Given the description of an element on the screen output the (x, y) to click on. 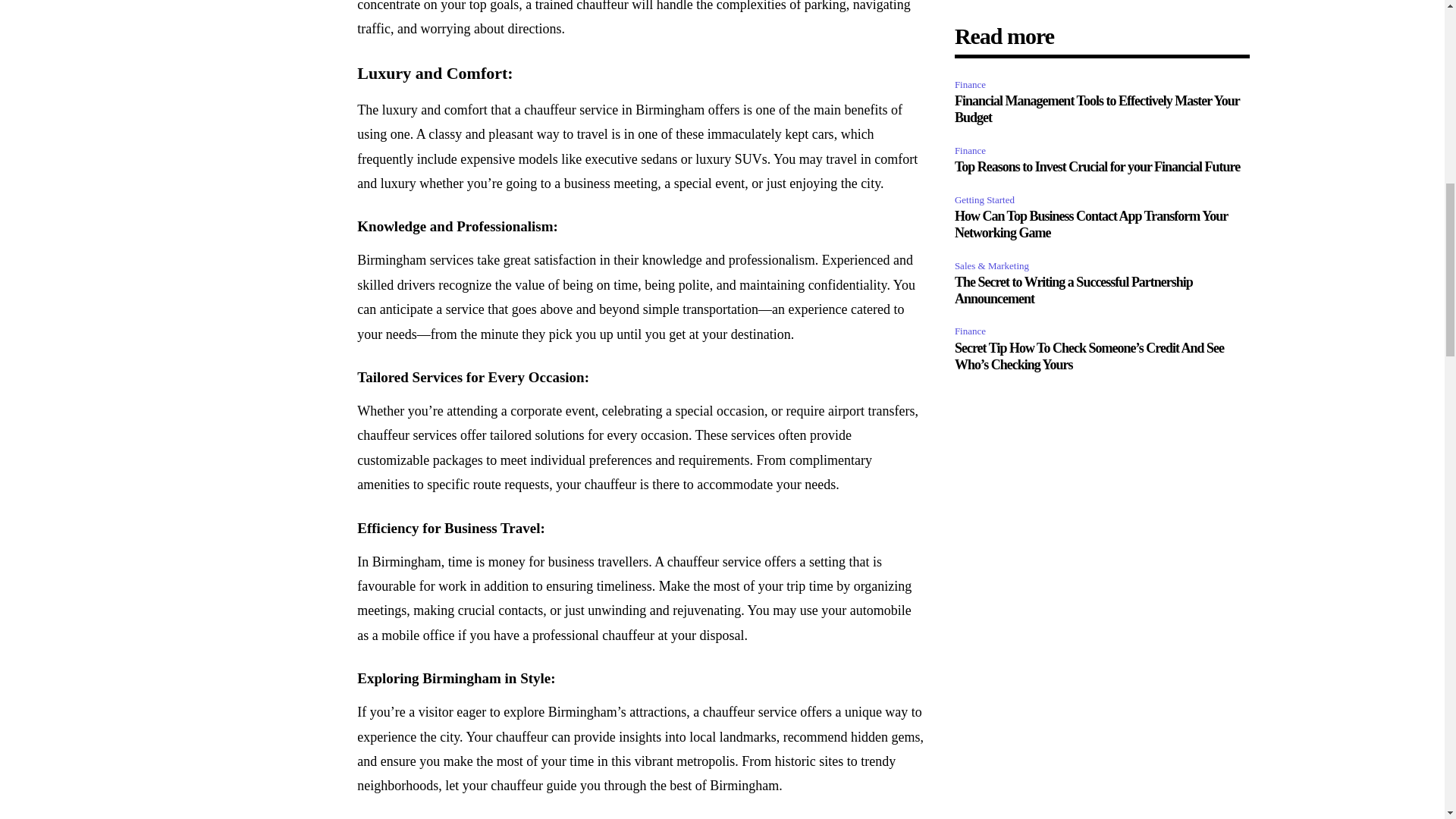
The Secret to Writing a Successful Partnership Announcement (1073, 290)
Top Reasons to Invest Crucial for your Financial Future (1097, 166)
Financial Management Tools to Effectively Master Your Budget (1097, 109)
